Given the description of an element on the screen output the (x, y) to click on. 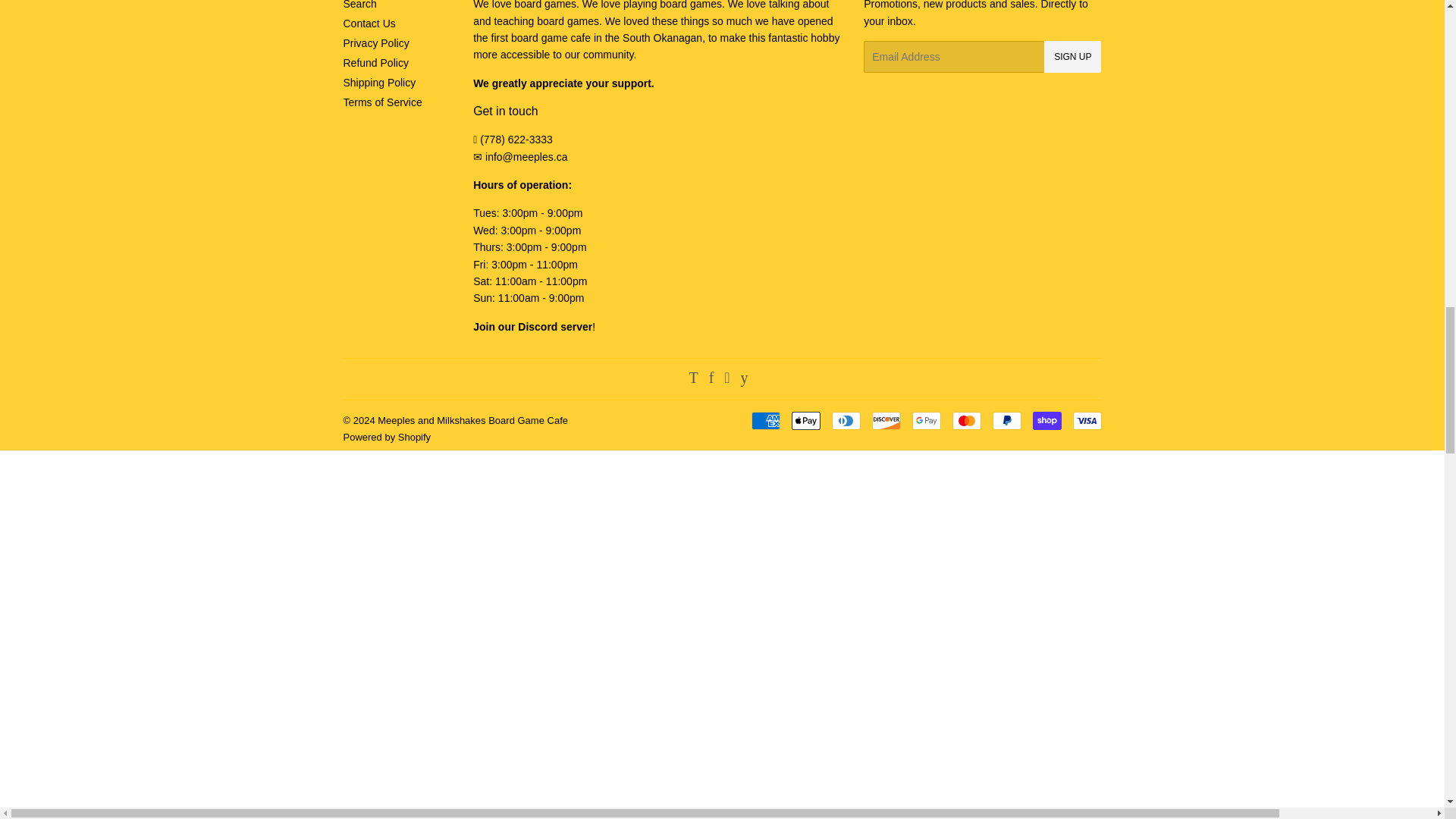
Apple Pay (806, 420)
Mastercard (966, 420)
Discover (886, 420)
Diners Club (845, 420)
Email Us (525, 156)
PayPal (1005, 420)
Visa (1085, 420)
Google Pay (925, 420)
Meeples and Milkshakes Board Game Cafe Discord Server (532, 326)
Shop Pay (1046, 420)
